Given the description of an element on the screen output the (x, y) to click on. 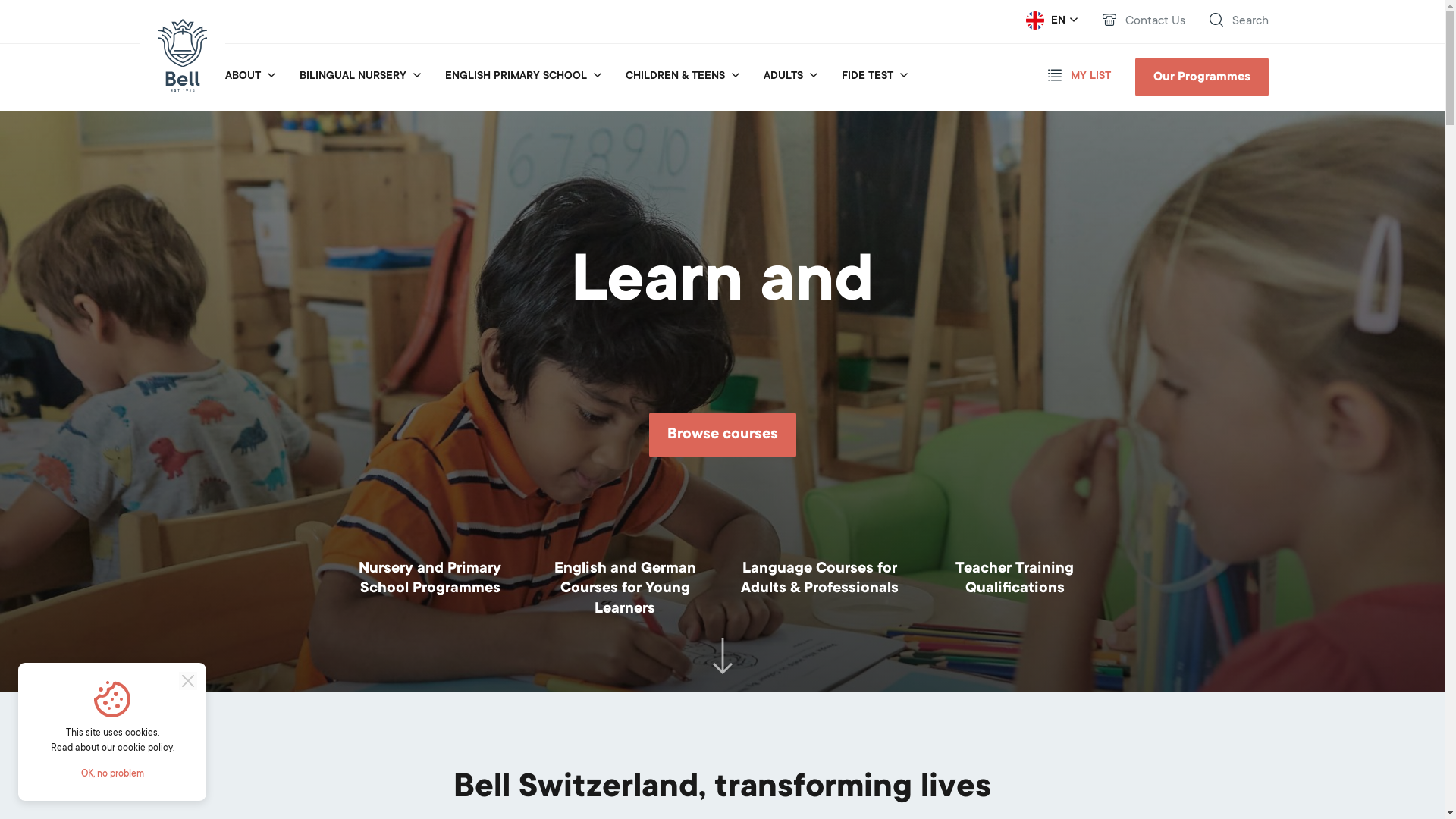
BILINGUAL NURSERY Element type: text (351, 76)
ADULTS Element type: text (782, 76)
cookie policy Element type: text (144, 748)
English and German Courses for Young Learners Element type: text (625, 589)
Contact Us Element type: text (1143, 21)
OK, no problem Element type: text (111, 773)
ABOUT Element type: text (242, 76)
Nursery and Primary School Programmes Element type: text (429, 579)
ENGLISH PRIMARY SCHOOL Element type: text (515, 76)
Search Element type: text (1237, 21)
FIDE TEST Element type: text (867, 76)
Teacher Training Qualifications Element type: text (1014, 579)
Our Programmes Element type: text (1200, 76)
MY LIST Element type: text (1079, 76)
EN Element type: text (1050, 20)
Browse courses Element type: text (722, 434)
CHILDREN & TEENS Element type: text (674, 76)
Language Courses for Adults & Professionals Element type: text (819, 579)
